Given the description of an element on the screen output the (x, y) to click on. 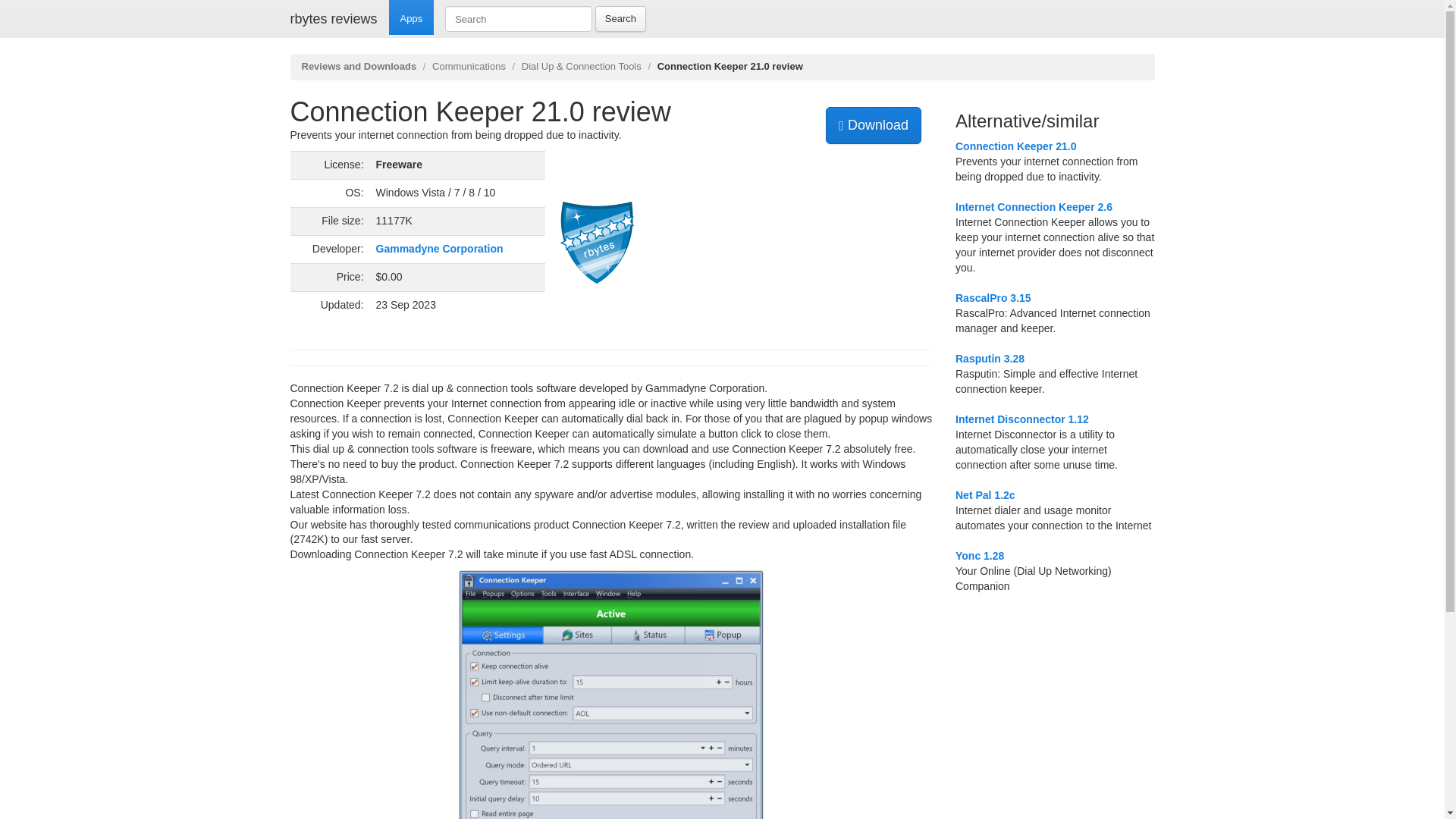
RascalPro 3.15 (992, 297)
Connection Keeper 21.0 (1016, 146)
Internet Connection Keeper 2.6 (1033, 206)
Communications (468, 66)
rbytes reviews (333, 18)
Internet Disconnector 1.12 review (1022, 419)
Internet Disconnector 1.12 (1022, 419)
Net Pal 1.2c (984, 494)
rbytes reviews (333, 18)
Connection Keeper 21.0 screenshot (610, 694)
Yonc 1.28 review (979, 555)
5 stars award from rbytes.net (596, 242)
Rasputin 3.28 review (990, 358)
Download (873, 125)
Gammadyne Corporation (439, 248)
